Given the description of an element on the screen output the (x, y) to click on. 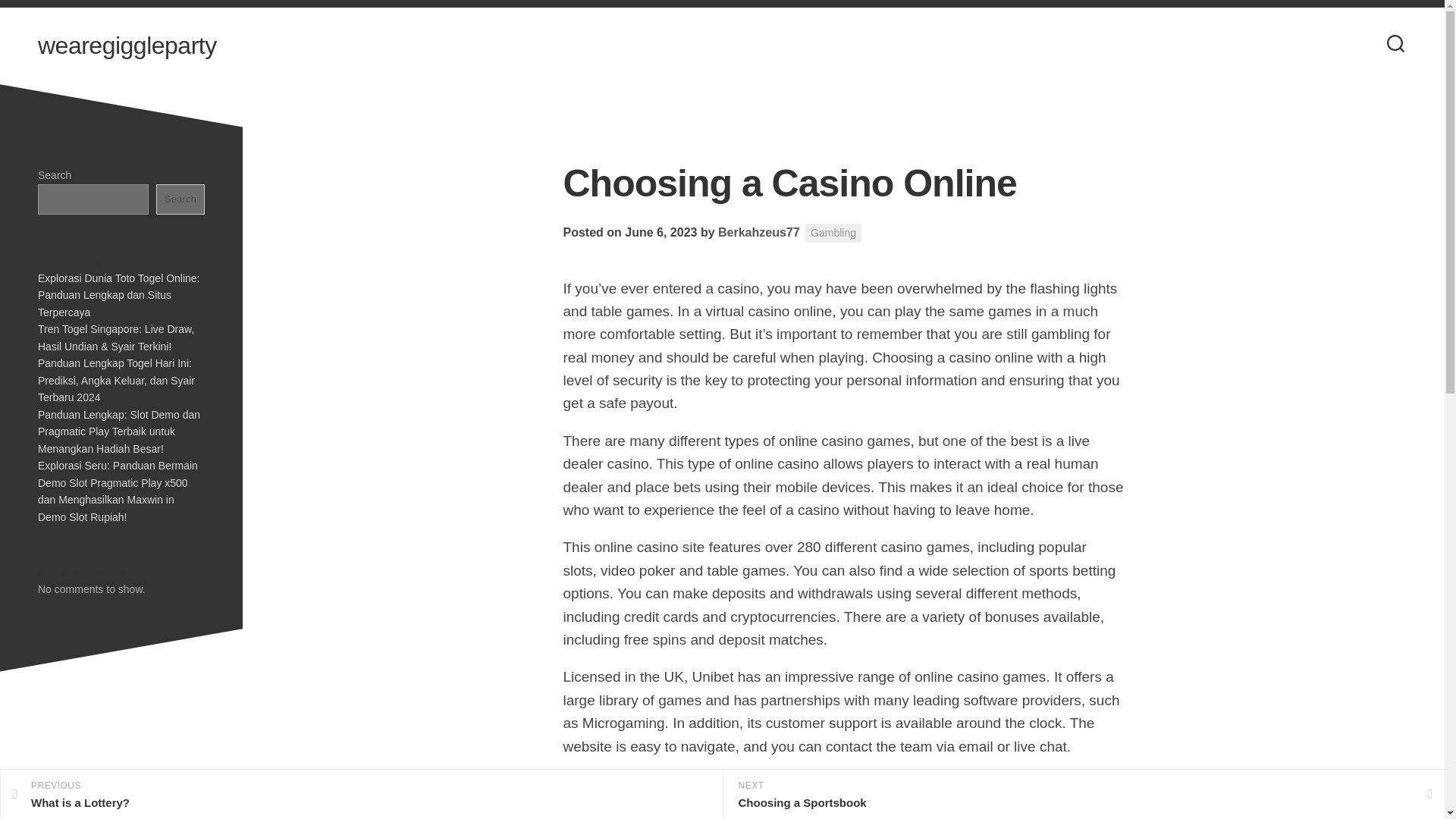
wearegiggleparty (126, 44)
Posts by Berkahzeus77 (758, 232)
Berkahzeus77 (361, 794)
Gambling (758, 232)
Search (833, 232)
